Given the description of an element on the screen output the (x, y) to click on. 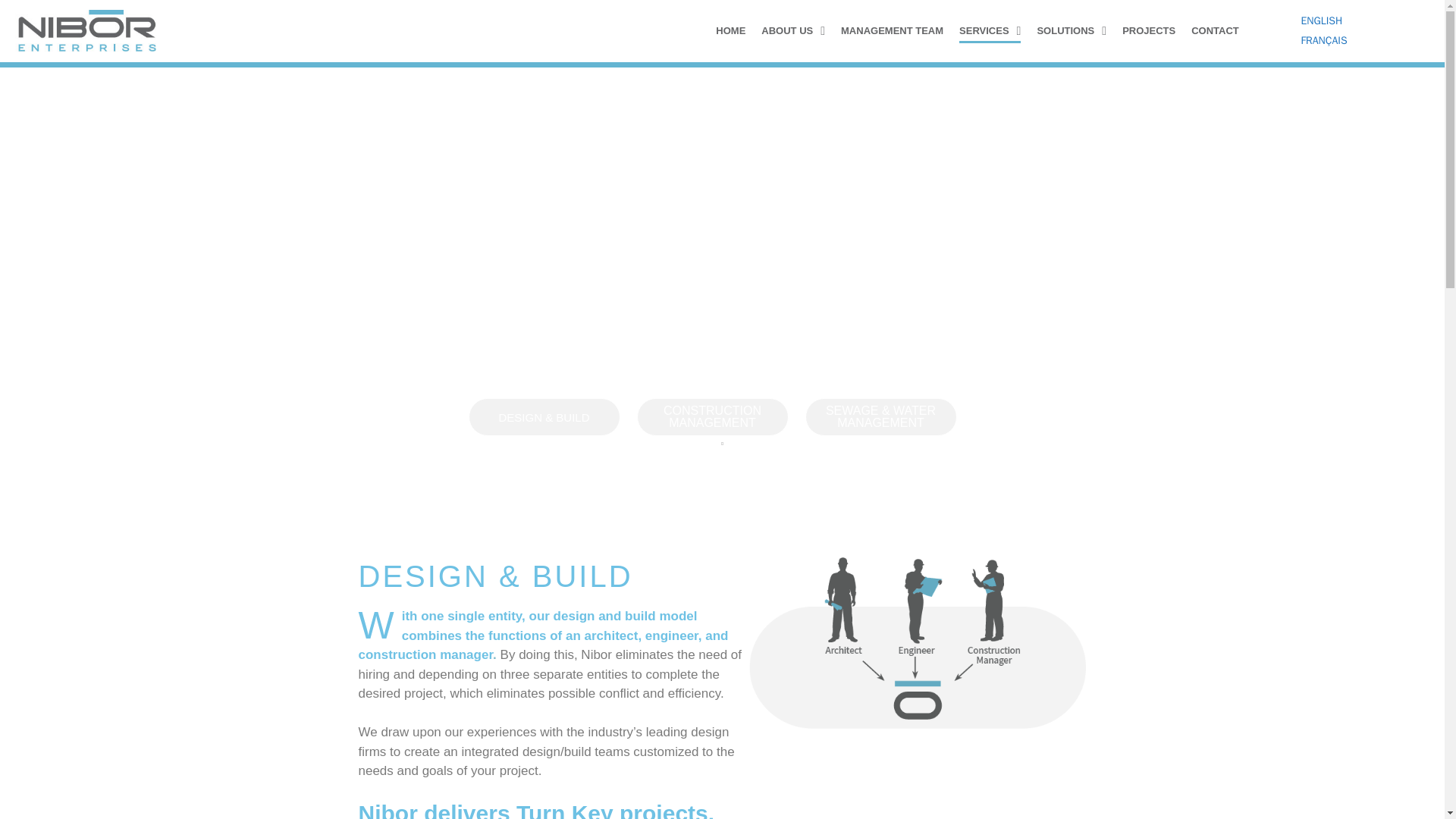
PROJECTS (1148, 30)
HOME (730, 30)
MANAGEMENT TEAM (892, 30)
SOLUTIONS (1071, 30)
SERVICES (989, 30)
ABOUT US (793, 30)
CONTACT (1215, 30)
